Given the description of an element on the screen output the (x, y) to click on. 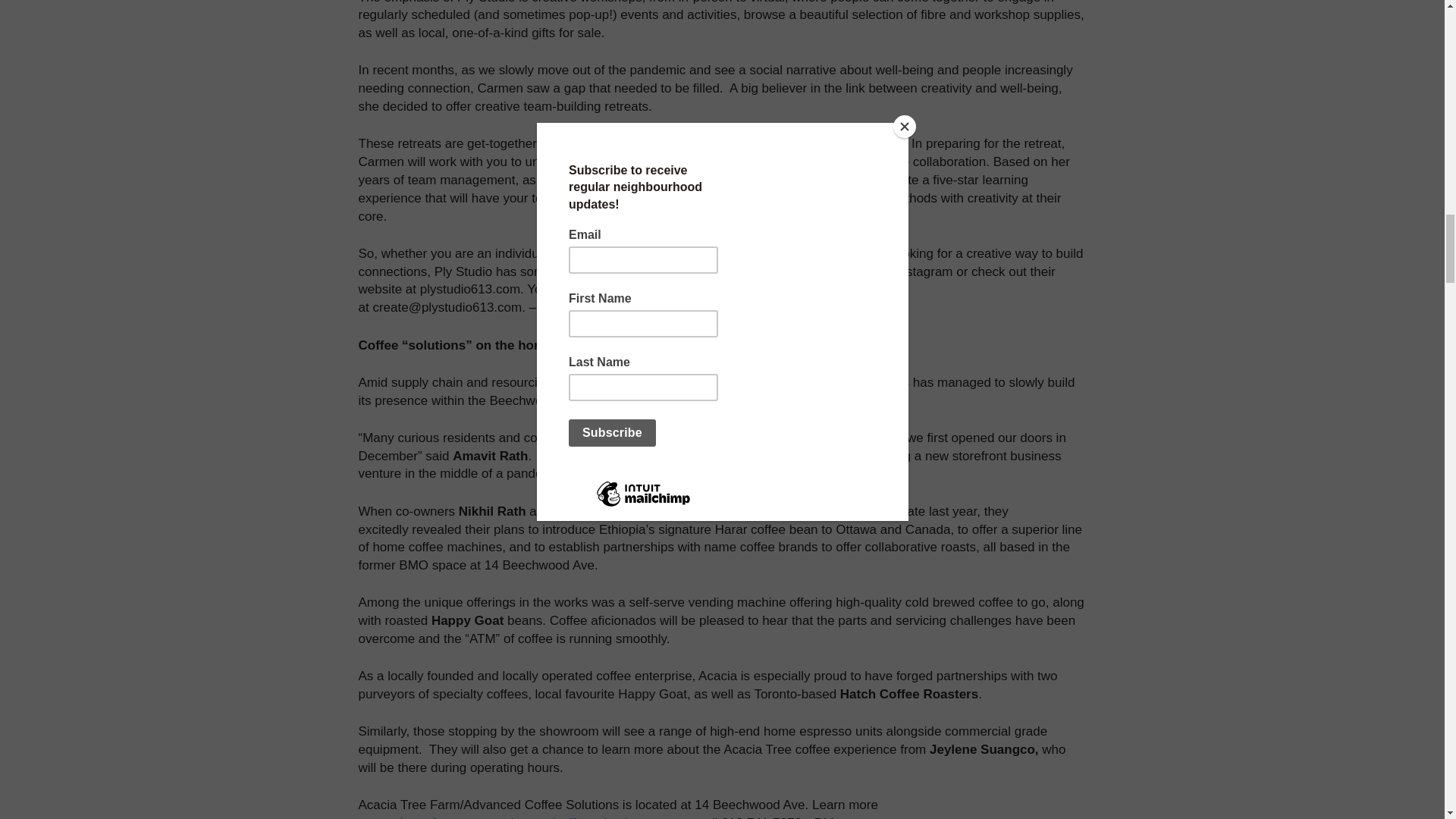
acaciatreefarms.com (432, 817)
advancedcoffeesoluntions.com (588, 817)
